Given the description of an element on the screen output the (x, y) to click on. 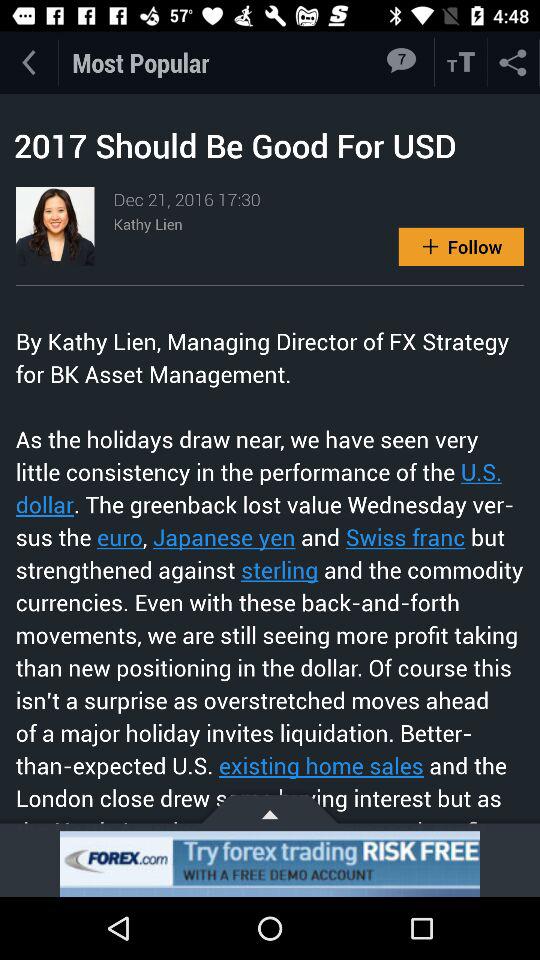
share the article (513, 62)
